Given the description of an element on the screen output the (x, y) to click on. 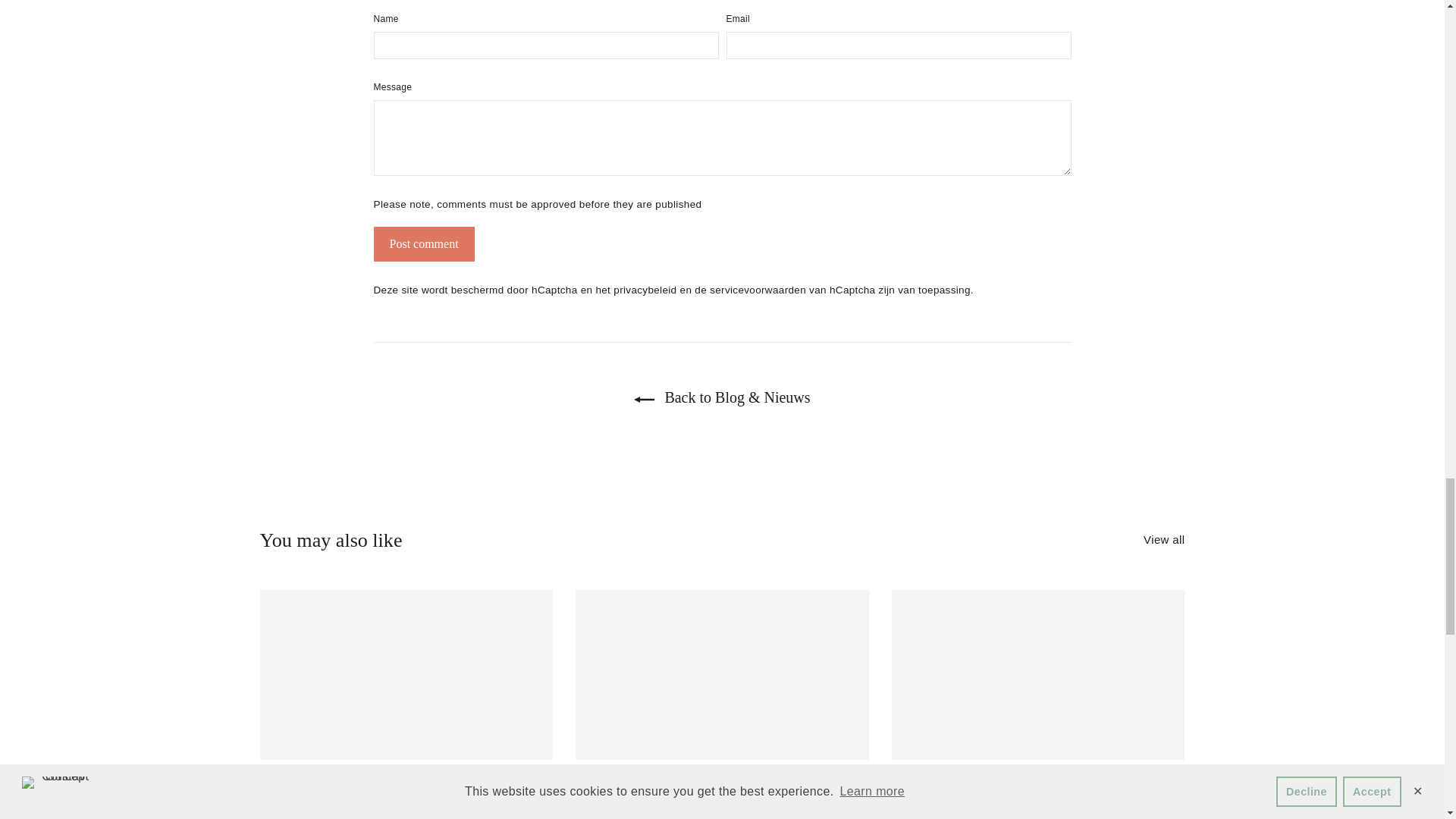
icon-left-arrow (643, 406)
privacybeleid (646, 297)
servicevoorwaarden (759, 297)
Post comment (423, 251)
Post comment (423, 251)
